Given the description of an element on the screen output the (x, y) to click on. 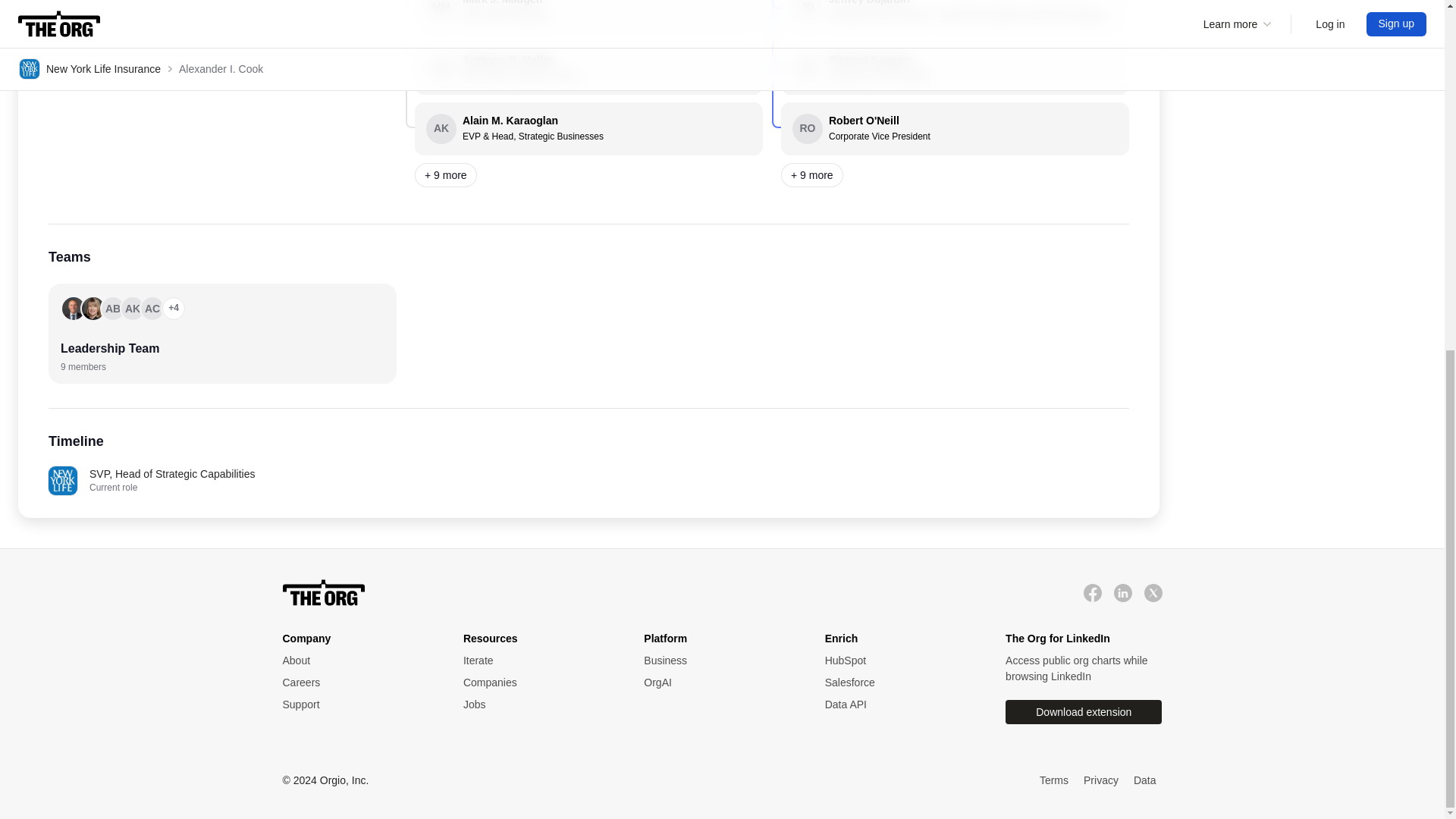
Facebook (588, 68)
HubSpot (1091, 592)
Jobs (900, 660)
Companies (537, 704)
About (537, 682)
Salesforce (357, 660)
Iterate (900, 682)
Business (537, 660)
The Org logo (718, 660)
Companies (323, 592)
OrgAI (537, 682)
Jobs (718, 682)
Business (537, 704)
Support (718, 660)
